Given the description of an element on the screen output the (x, y) to click on. 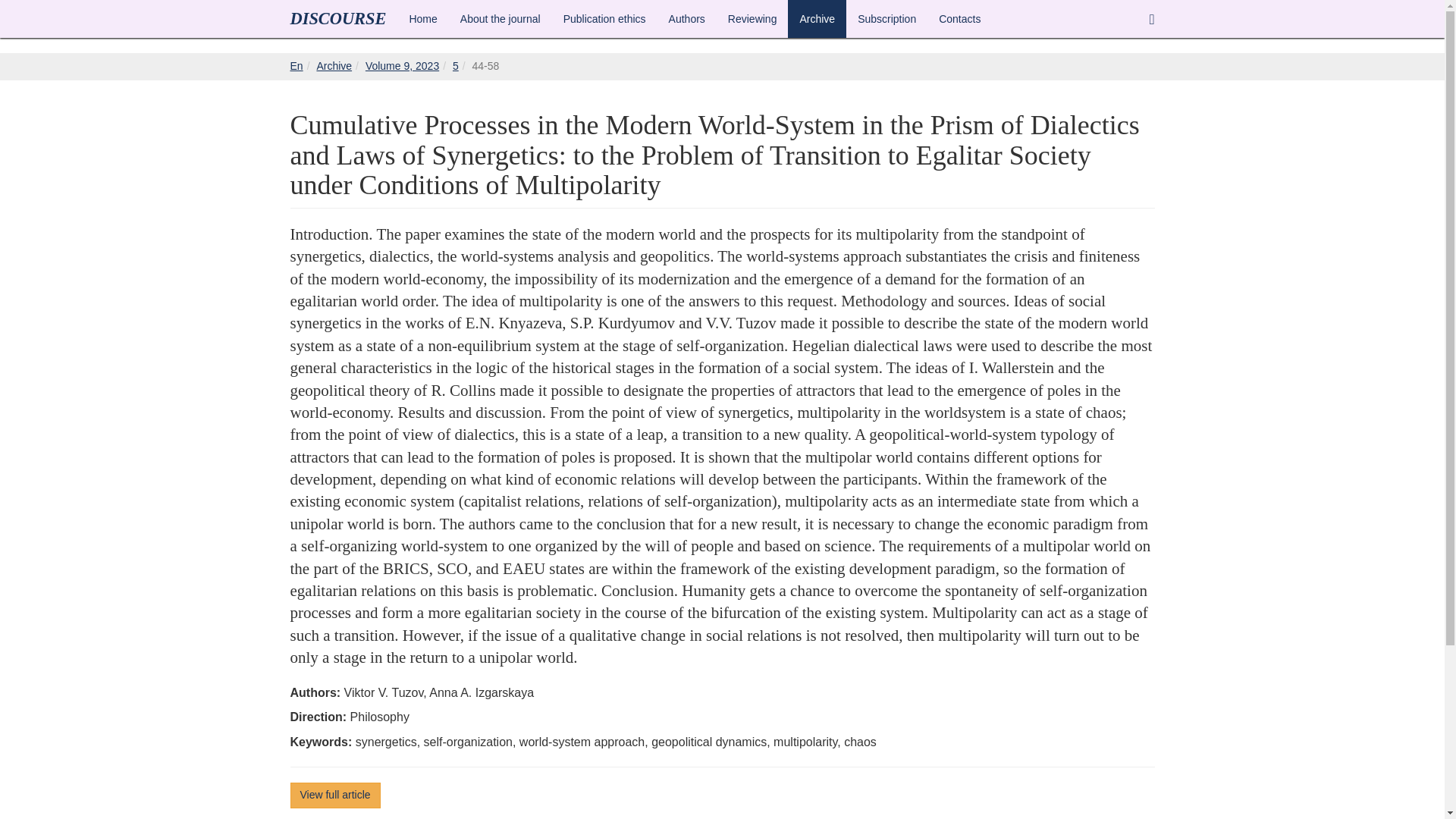
Subscription (886, 18)
Reviewing (752, 18)
About the journal (499, 18)
Contacts (959, 18)
Volume 9, 2023 (402, 65)
Archive of issues of the journal (333, 65)
Home (422, 18)
About the journal (499, 18)
Authors (687, 18)
Subscription (886, 18)
